Given the description of an element on the screen output the (x, y) to click on. 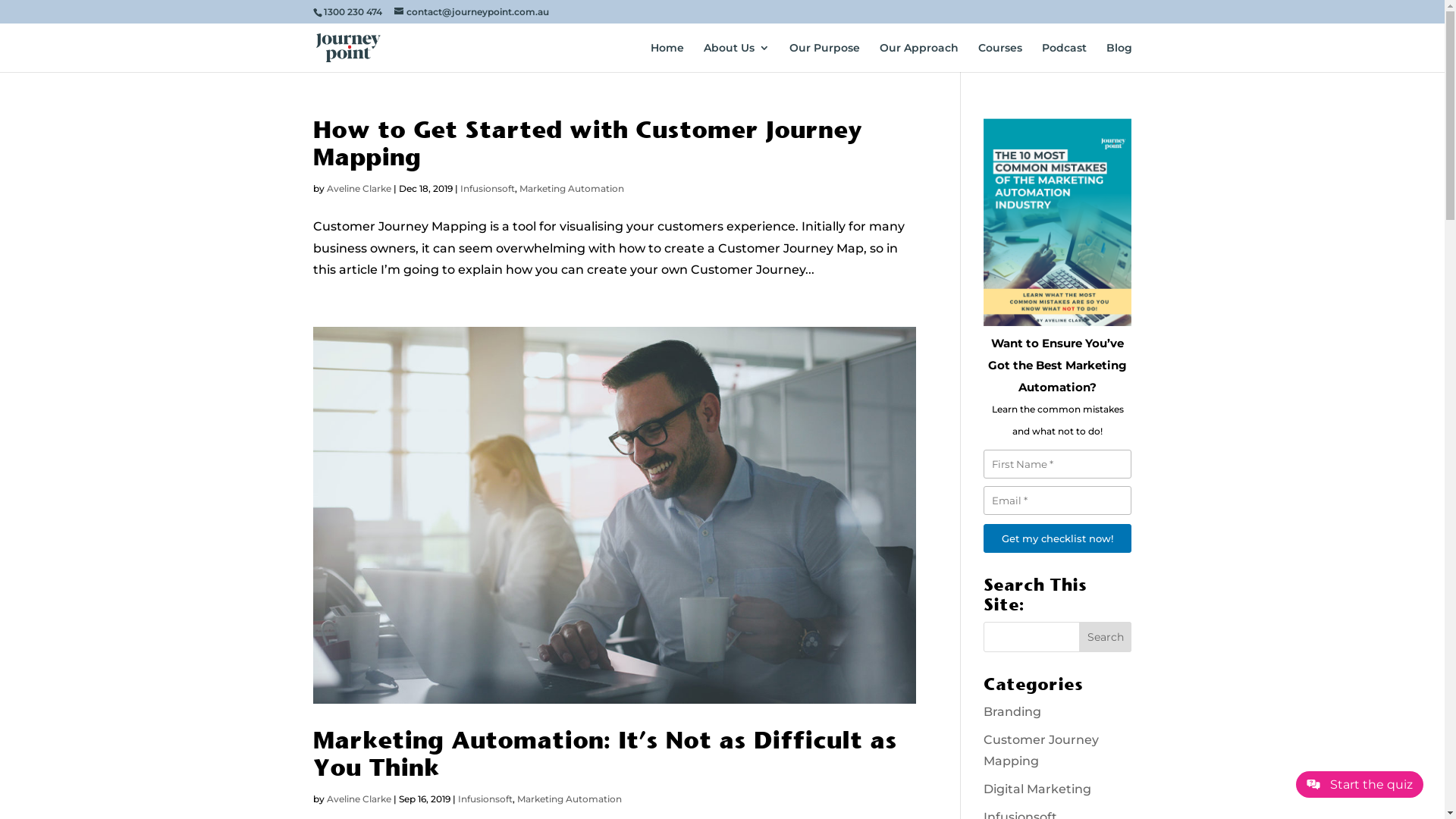
Aveline Clarke Element type: text (358, 798)
Search Element type: text (1105, 636)
Customer Journey Mapping Element type: text (1040, 750)
Marketing Automation Element type: text (570, 188)
contact@journeypoint.com.au Element type: text (471, 11)
About Us Element type: text (736, 57)
How to Get Started with Customer Journey Mapping Element type: text (586, 142)
Get my checklist now! Element type: text (1057, 538)
Our Purpose Element type: text (823, 57)
Aveline Clarke Element type: text (358, 188)
Courses Element type: text (1000, 57)
Digital Marketing Element type: text (1037, 788)
Infusionsoft Element type: text (485, 798)
Blog Element type: text (1118, 57)
Infusionsoft Element type: text (486, 188)
Branding Element type: text (1012, 711)
Marketing Automation Element type: text (569, 798)
Home Element type: text (667, 57)
Start the quiz Element type: text (1359, 784)
Podcast Element type: text (1063, 57)
Our Approach Element type: text (918, 57)
